Given the description of an element on the screen output the (x, y) to click on. 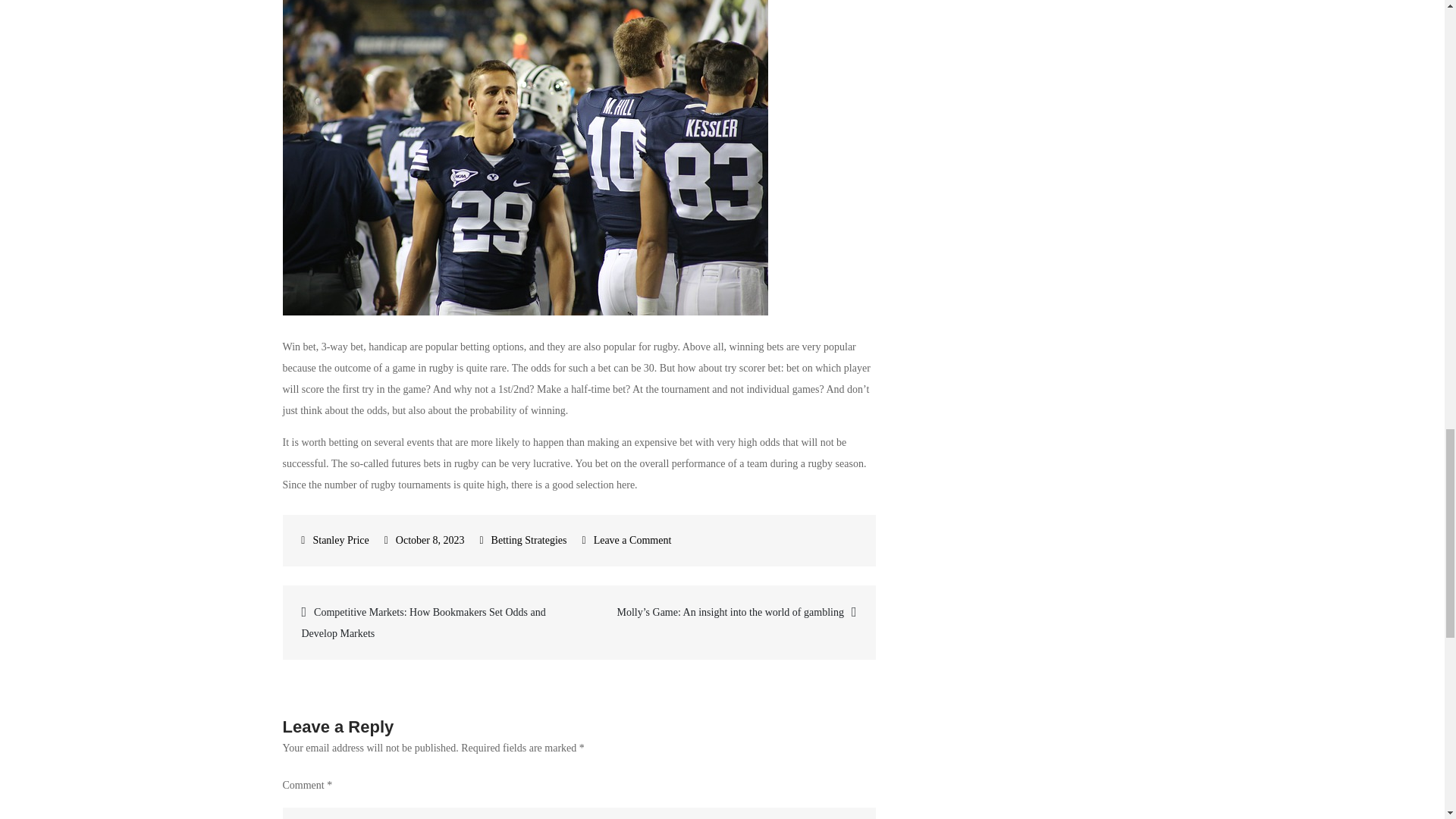
Betting Strategies (529, 540)
Stanley Price (334, 540)
October 8, 2023 (424, 540)
